Given the description of an element on the screen output the (x, y) to click on. 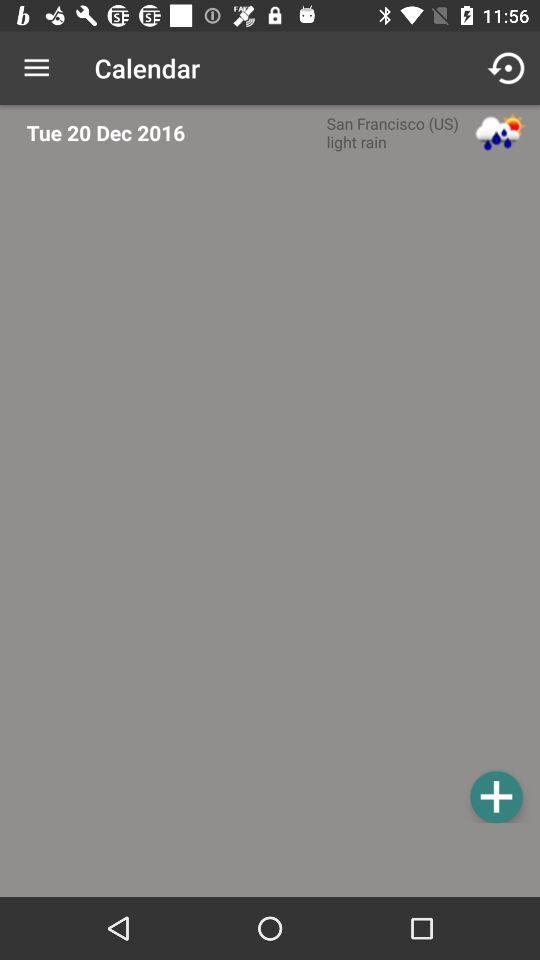
turn on the icon at the bottom right corner (496, 796)
